Given the description of an element on the screen output the (x, y) to click on. 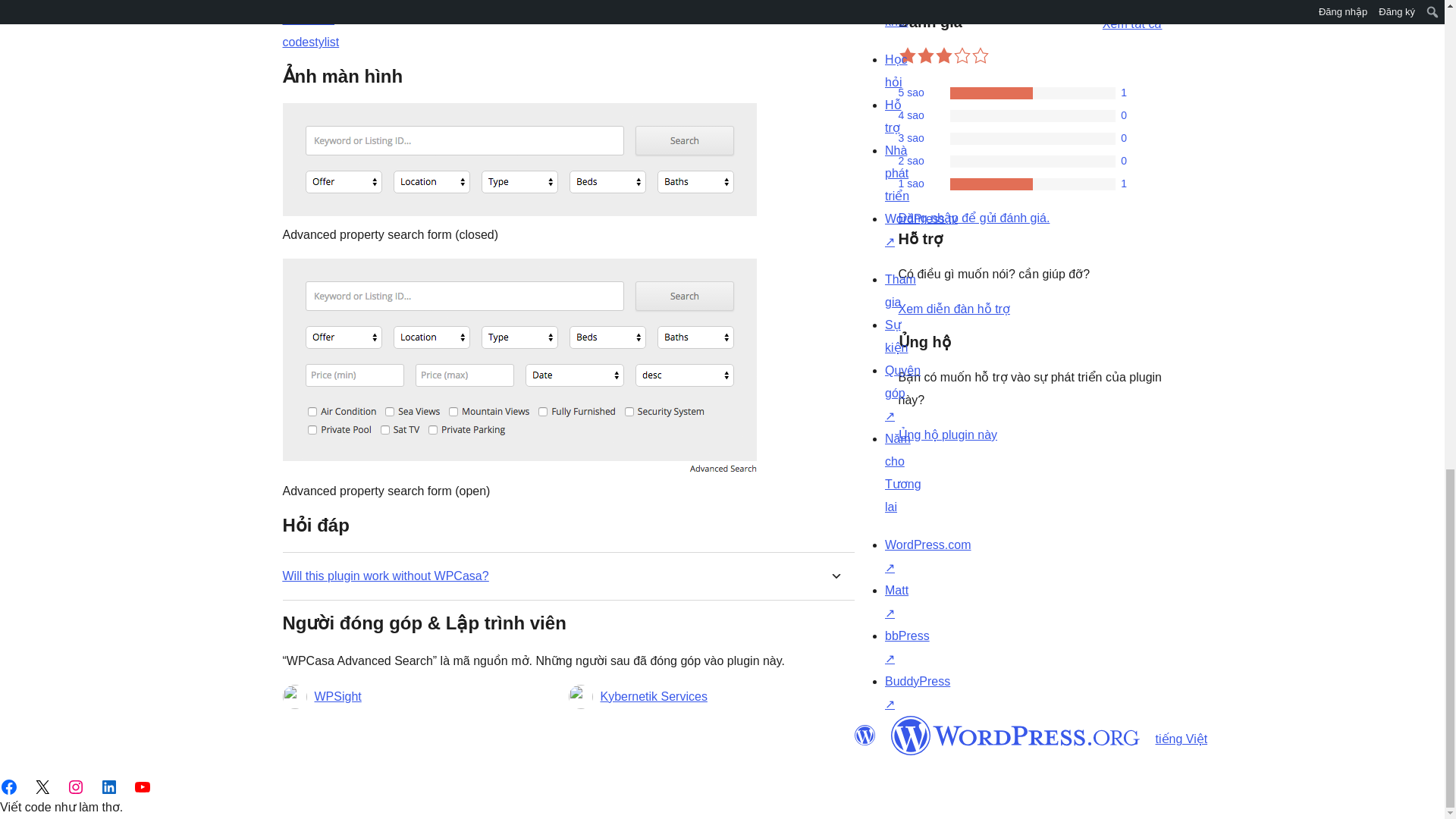
WordPress.org (1014, 735)
WordPress.org (864, 735)
